Given the description of an element on the screen output the (x, y) to click on. 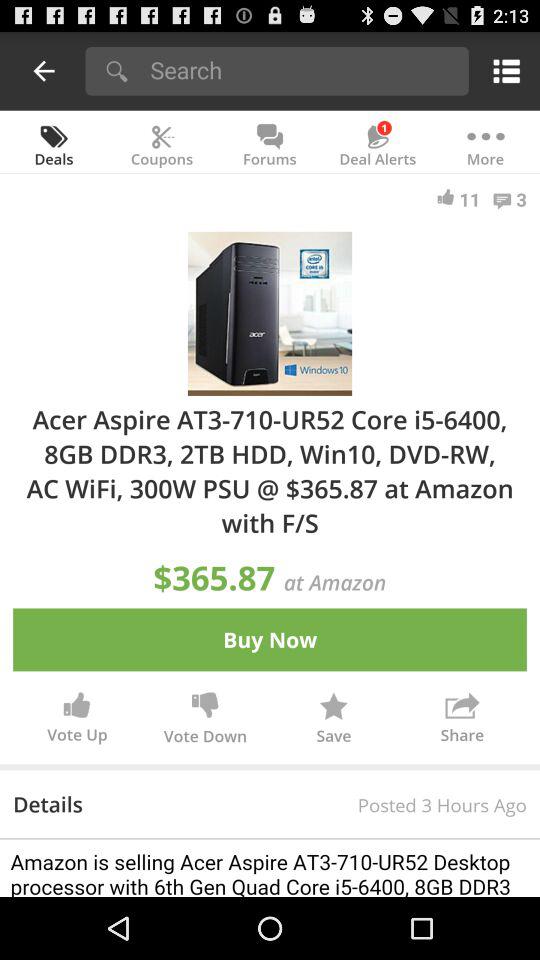
turn off button next to vote down button (333, 721)
